Given the description of an element on the screen output the (x, y) to click on. 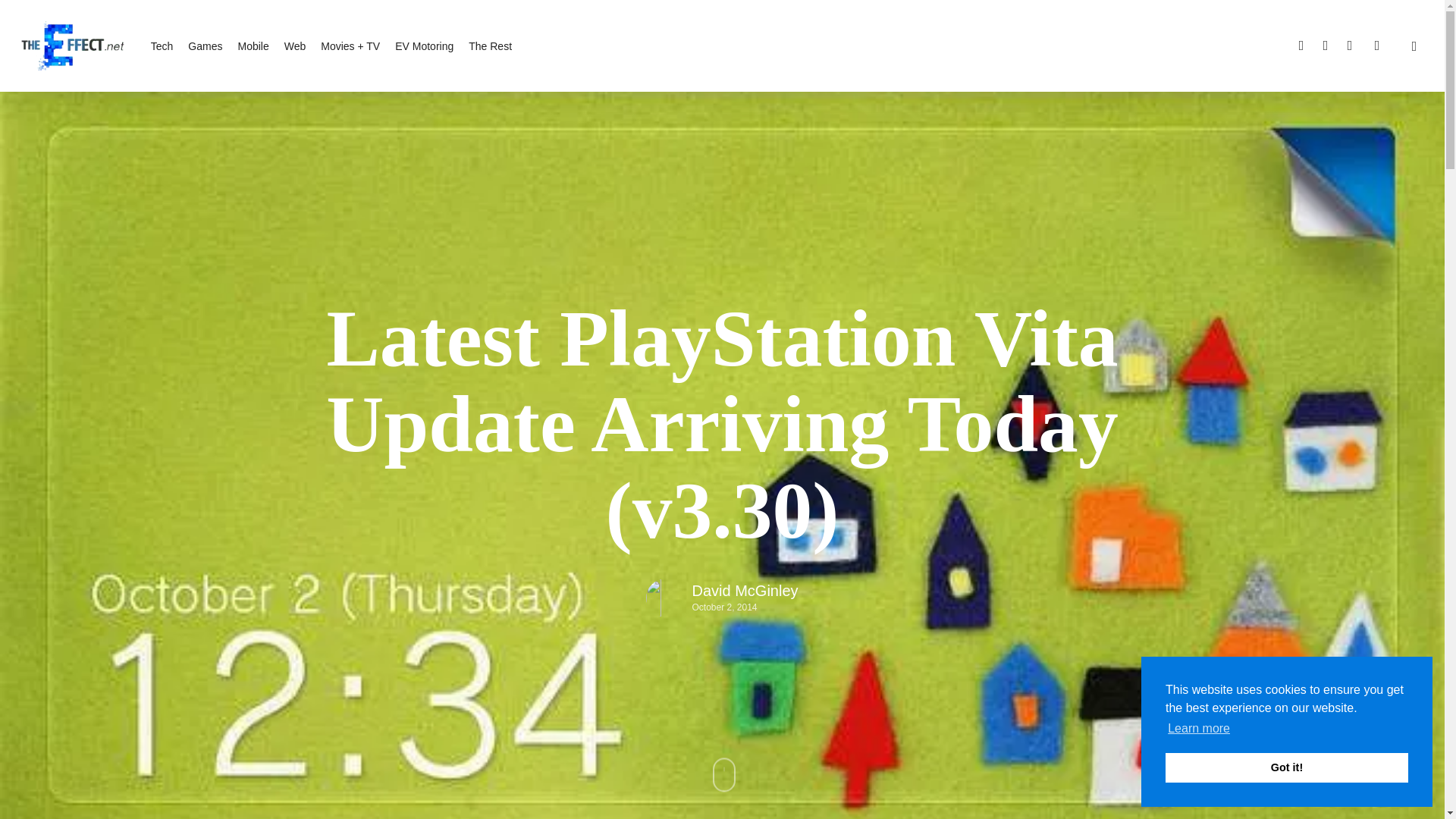
Posts by David McGinley (744, 589)
Got it! (1286, 767)
Web (294, 45)
Mobile (252, 45)
EV Motoring (423, 45)
youtube (1349, 45)
Tech (162, 45)
Games (204, 45)
facebook (1325, 45)
Learn more (1198, 728)
instagram (1376, 45)
David McGinley (744, 589)
twitter (1300, 45)
search (1414, 45)
The Rest (490, 45)
